Given the description of an element on the screen output the (x, y) to click on. 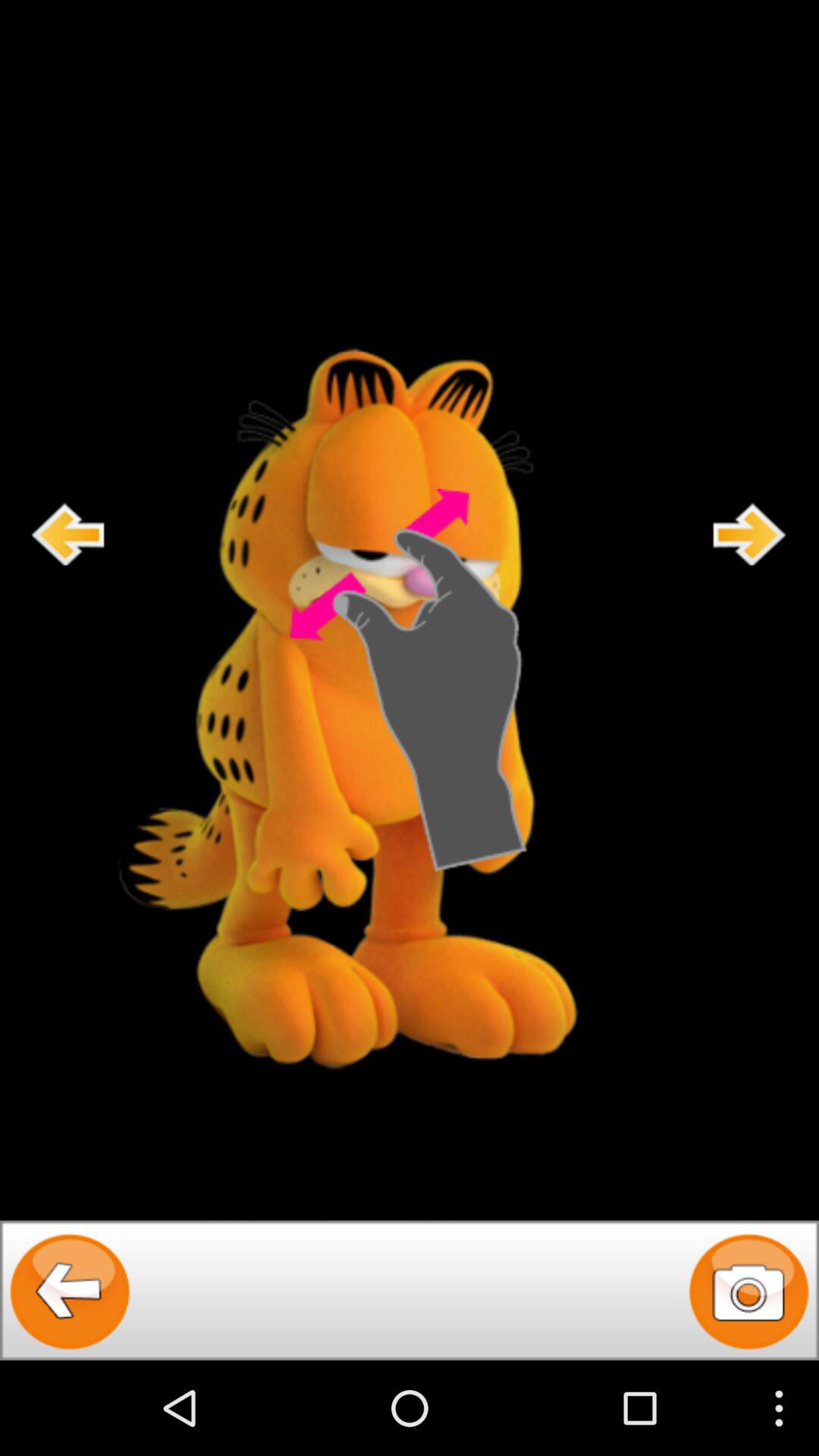
go back (69, 1290)
